Given the description of an element on the screen output the (x, y) to click on. 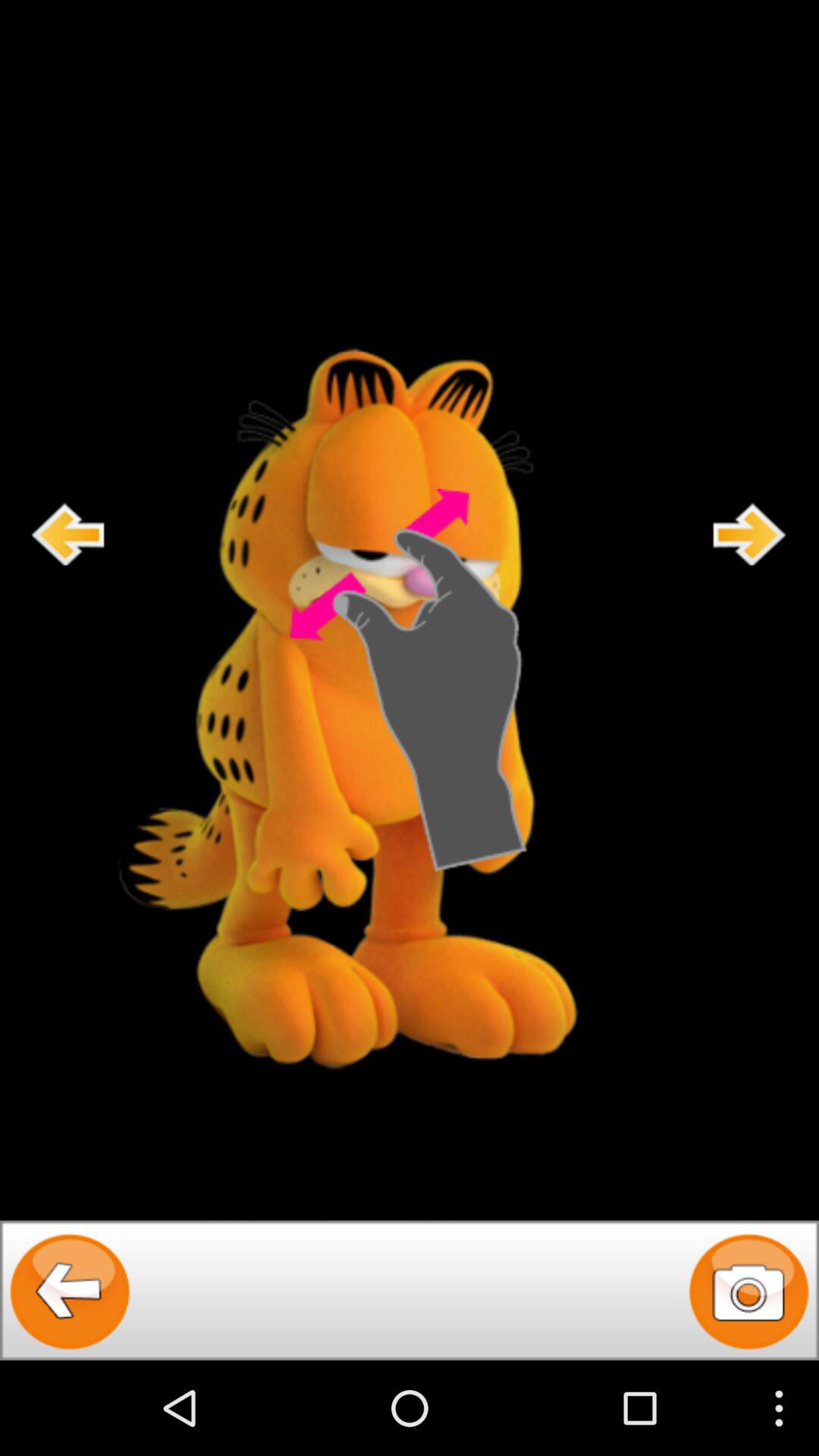
go back (69, 1290)
